Given the description of an element on the screen output the (x, y) to click on. 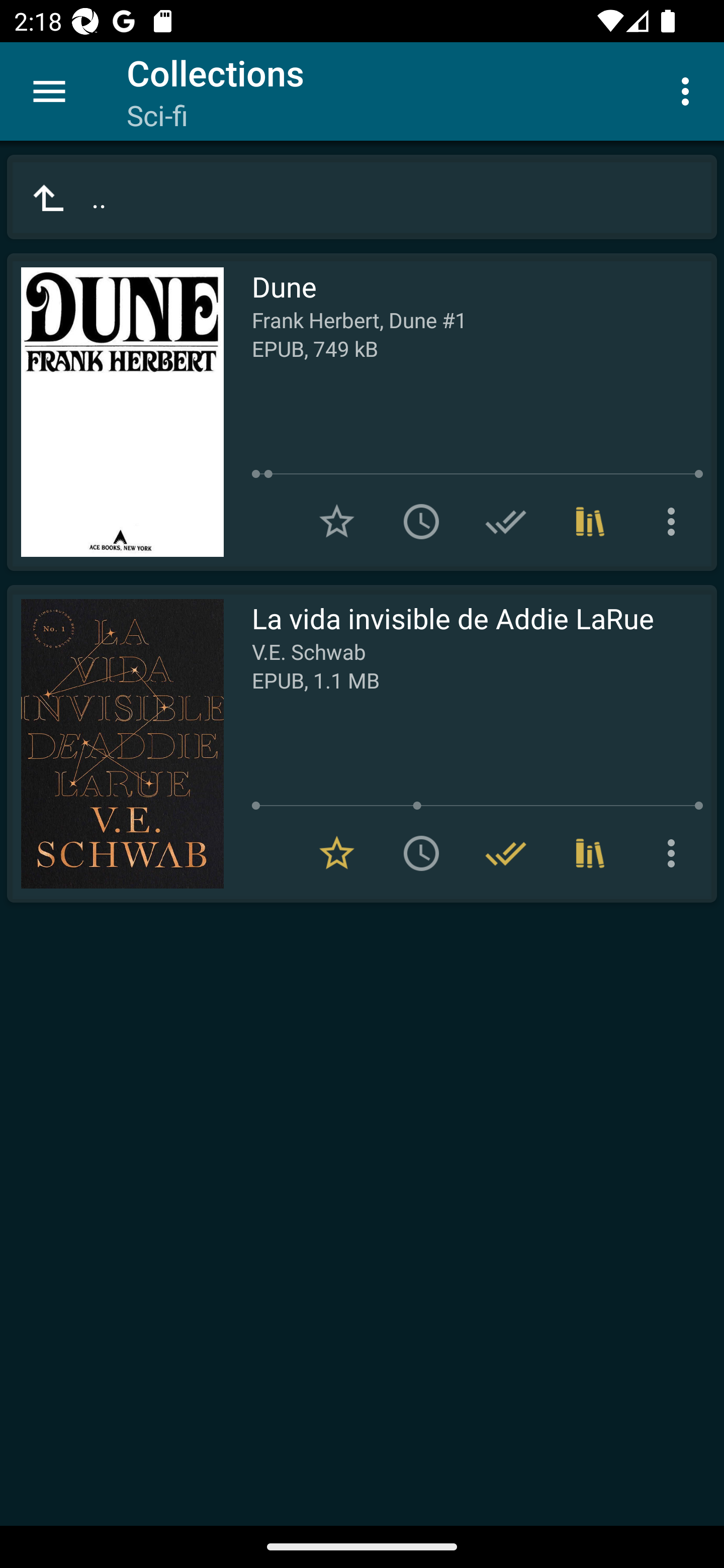
Menu (49, 91)
More options (688, 90)
.. (361, 197)
Read Dune (115, 412)
Add to Favorites (336, 521)
Add to To read (421, 521)
Add to Have read (505, 521)
Collections (1) (590, 521)
More options (674, 521)
Read La vida invisible de Addie LaRue (115, 743)
Remove from Favorites (336, 852)
Add to To read (421, 852)
Remove from Have read (505, 852)
Collections (1) (590, 852)
More options (674, 852)
